Given the description of an element on the screen output the (x, y) to click on. 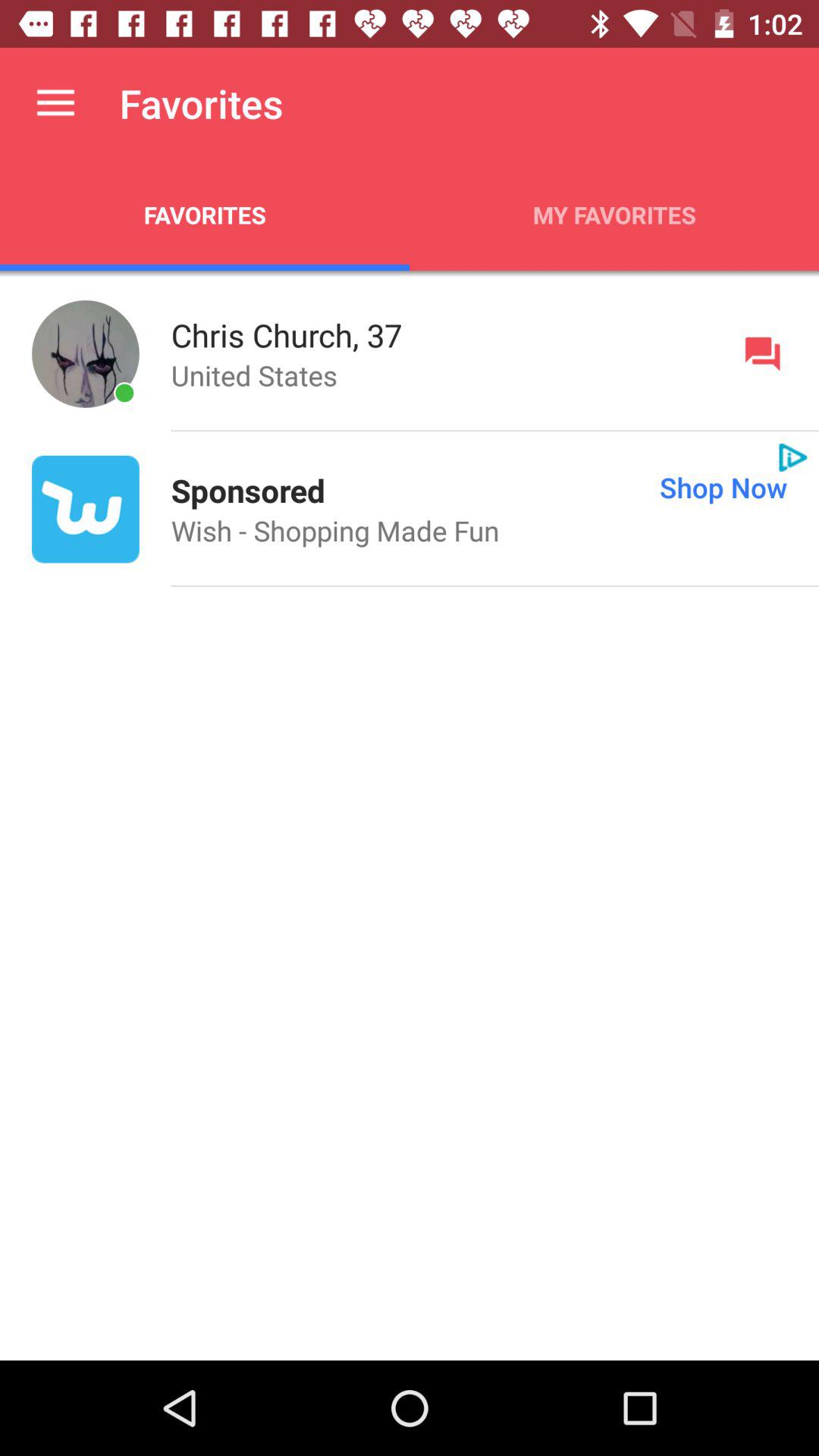
choose the app to the left of the favorites app (55, 103)
